Given the description of an element on the screen output the (x, y) to click on. 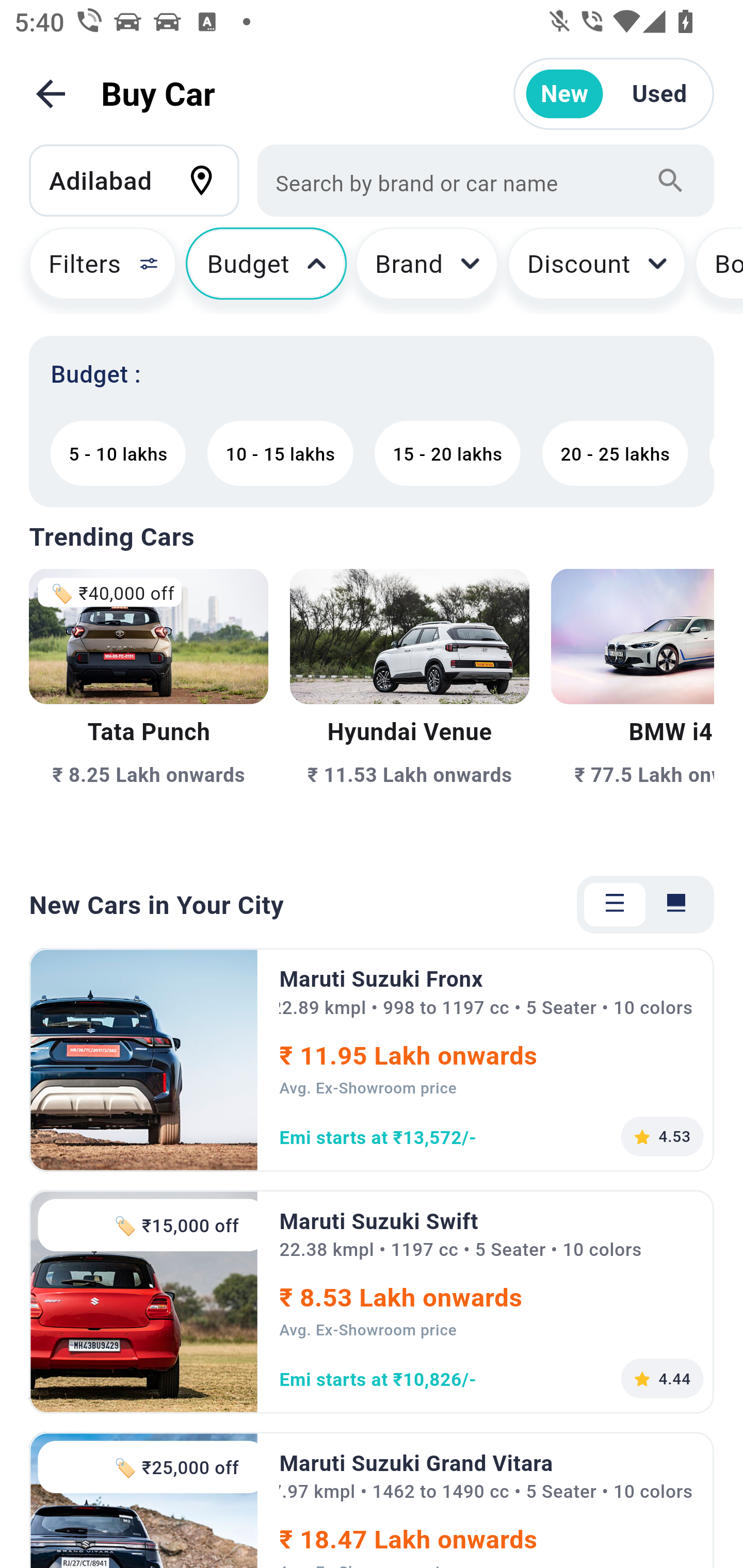
Back (50, 93)
New (564, 93)
Used (659, 93)
Adilabad (142, 180)
Filters (93, 270)
Budget (265, 270)
Brand (427, 270)
Discount (596, 270)
5 - 10 lakhs (117, 453)
10 - 15 lakhs (279, 453)
15 - 20 lakhs (447, 453)
20 - 25 lakhs (615, 453)
🏷️ ₹40,000 off
₹ 8.25 Lakh onwards Tata Punch (148, 709)
₹ 11.53 Lakh onwards Hyundai Venue (409, 709)
₹ 77.5 Lakh onwards BMW i4 (632, 709)
Tab 1 of 2 (614, 904)
Tab 2 of 2 (675, 904)
